Given the description of an element on the screen output the (x, y) to click on. 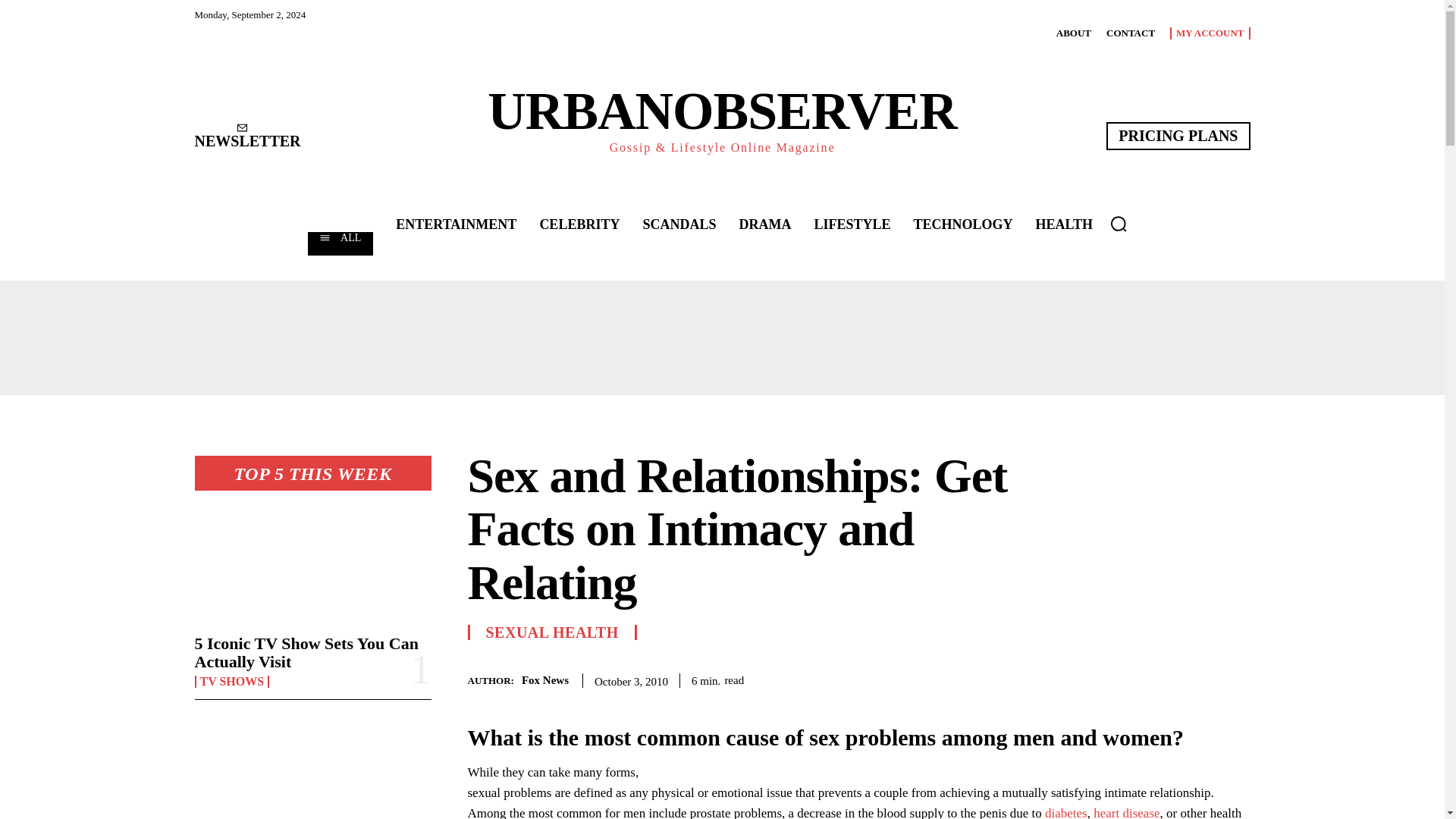
NEWSLETTER (246, 135)
CONTACT (1130, 33)
Newsletter (246, 135)
All (339, 243)
ABOUT (1073, 33)
Pricing Plans (1177, 135)
